Given the description of an element on the screen output the (x, y) to click on. 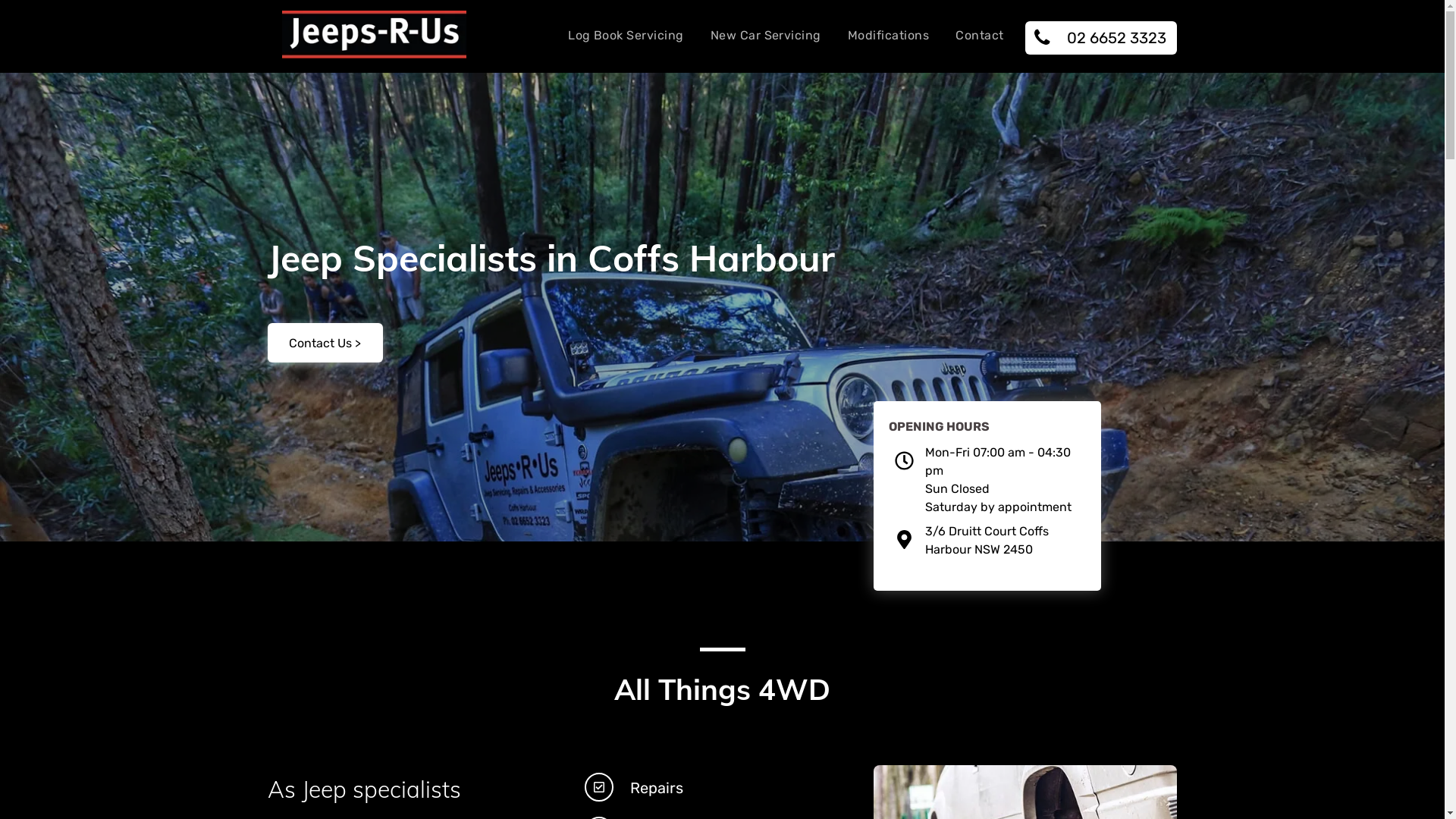
New Car Servicing Element type: text (765, 34)
Modifications Element type: text (888, 34)
Log Book Servicing Element type: text (625, 34)
Contact Us > Element type: text (324, 342)
Contact Element type: text (979, 34)
3/6 Druitt Court Coffs Harbour NSW 2450 Element type: text (986, 540)
Jeep Specialists In Coffs Harbour Element type: hover (374, 34)
02 6652 3323 Element type: text (1100, 37)
